Given the description of an element on the screen output the (x, y) to click on. 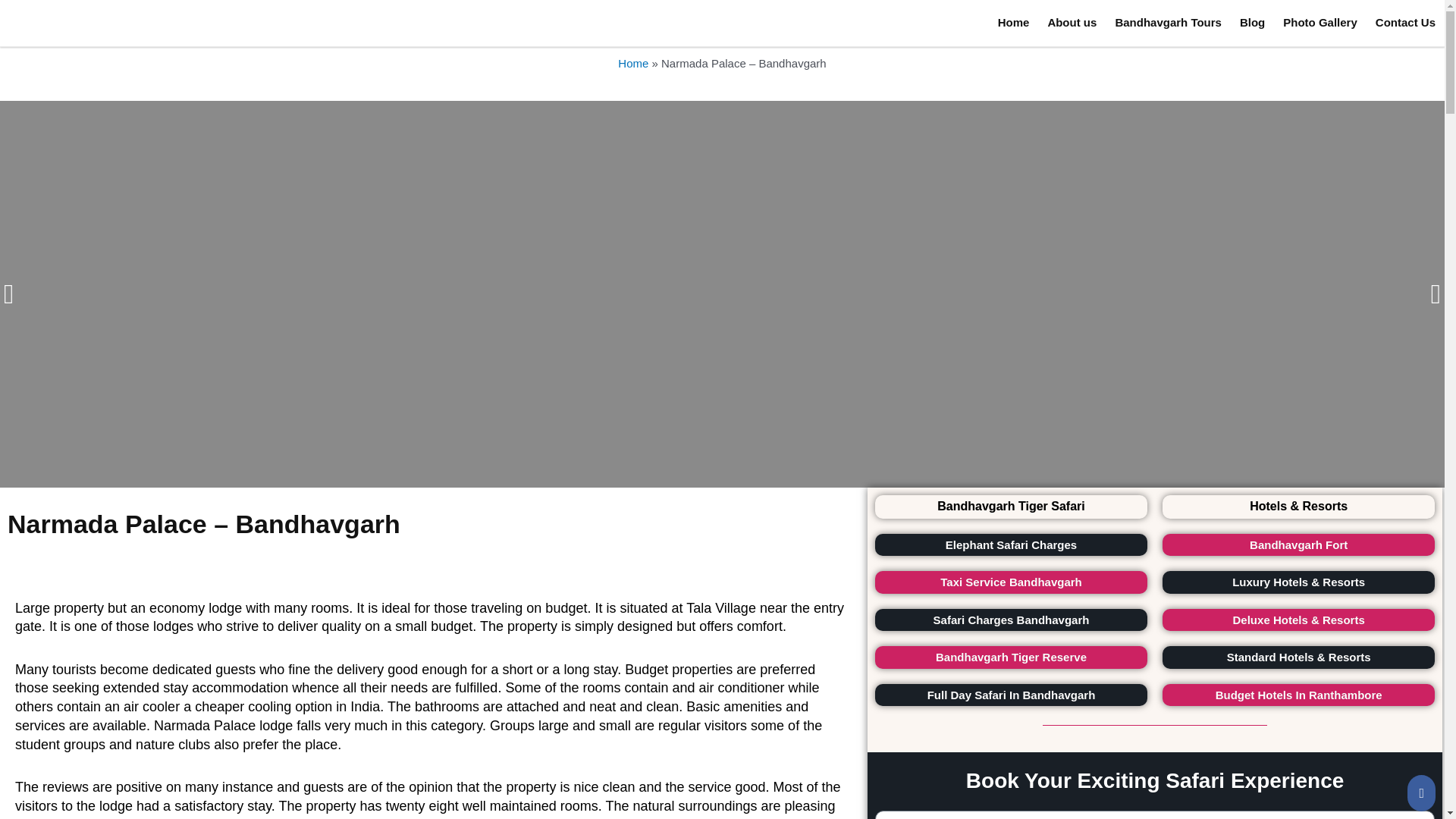
Taxi Service Bandhavgarh (1028, 581)
Blog (1252, 22)
Budget Hotels In Ranthambore (1298, 694)
Contact Us (1405, 22)
Home (1013, 22)
Safari Charges Bandhavgarh (1025, 619)
Photo Gallery (1320, 22)
Home (632, 62)
Full Day Safari In Bandhavgarh (1018, 694)
Bandhavgarh Tours (1167, 22)
About us (1071, 22)
Elephant Safari Charges (1034, 544)
Bandhavgarh Tiger Reserve (1023, 656)
Bandhavgarh Fort (1304, 544)
